Given the description of an element on the screen output the (x, y) to click on. 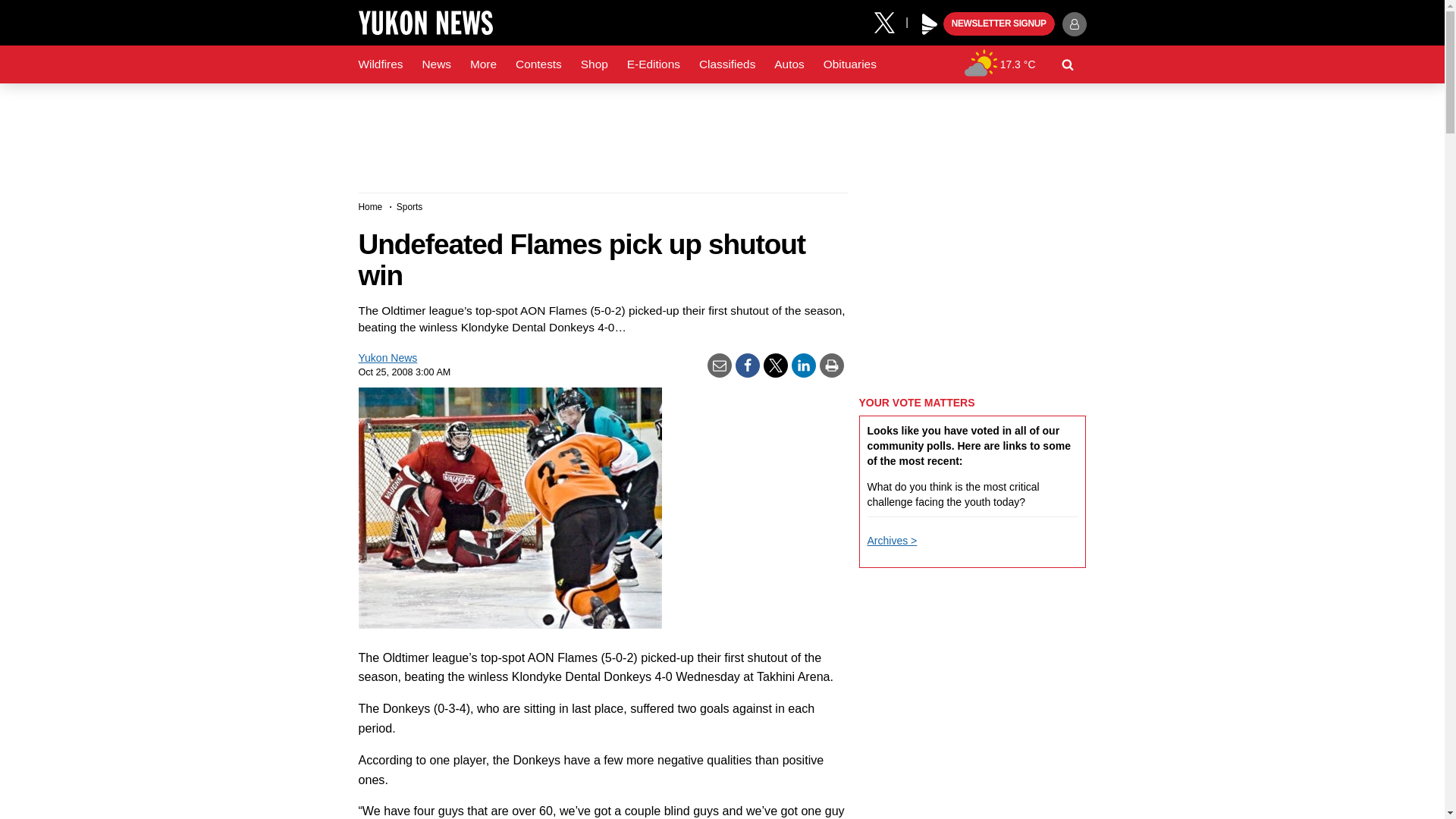
Black Press Media (929, 24)
News (435, 64)
Wildfires (380, 64)
Play (929, 24)
NEWSLETTER SIGNUP (998, 24)
X (889, 21)
